Given the description of an element on the screen output the (x, y) to click on. 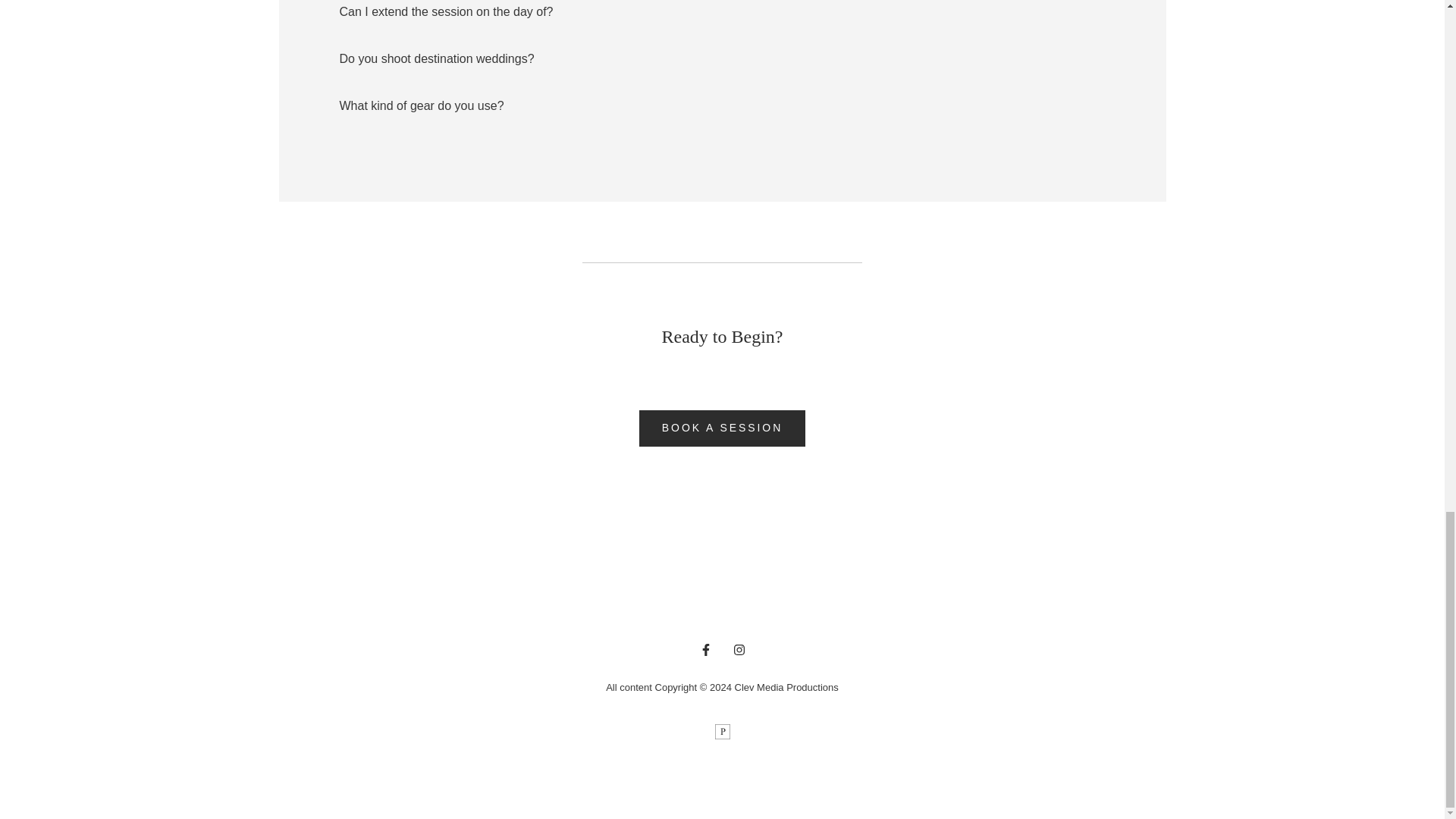
BOOK A SESSION (722, 428)
